Given the description of an element on the screen output the (x, y) to click on. 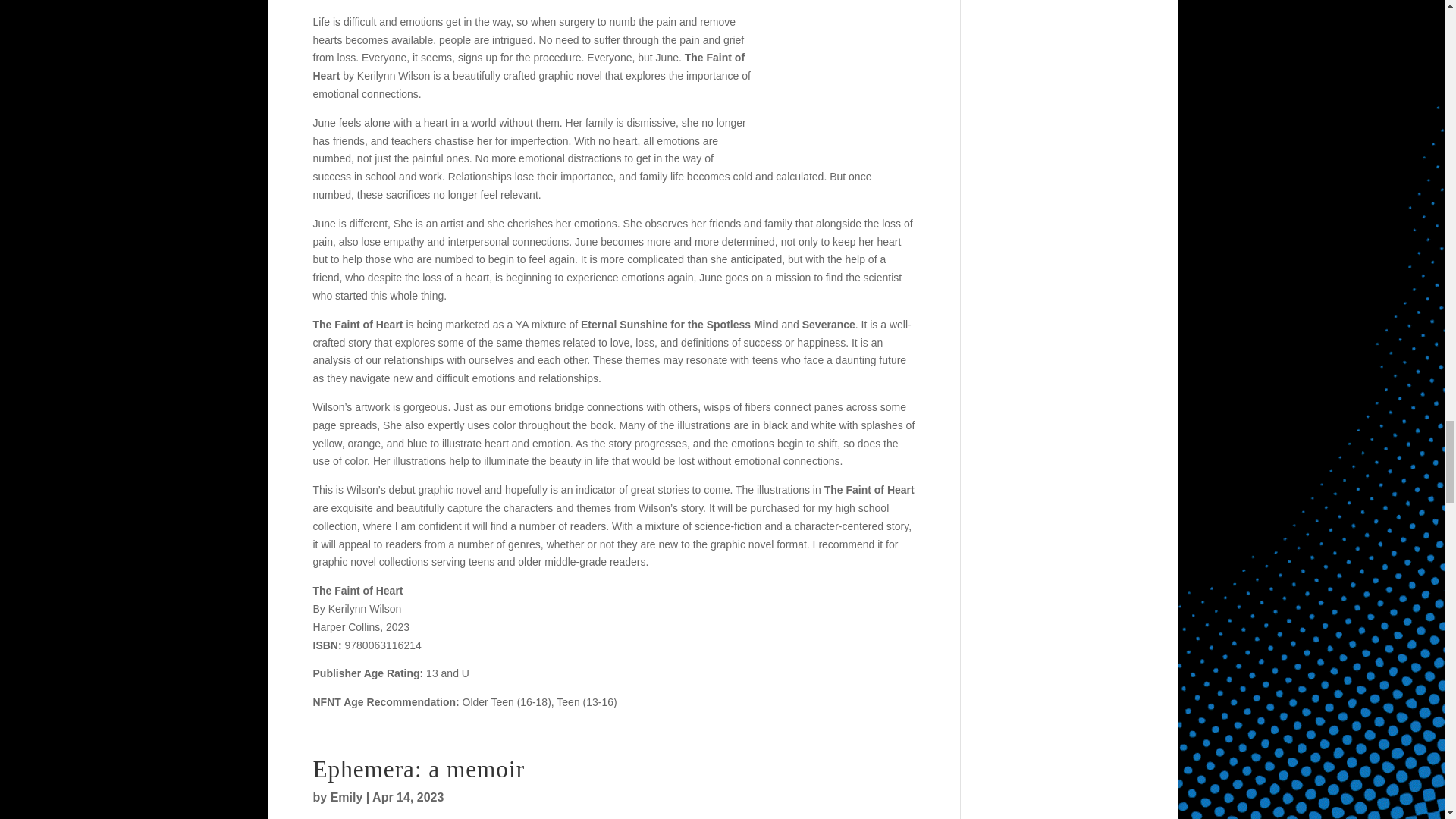
Posts by Emily (346, 797)
